Given the description of an element on the screen output the (x, y) to click on. 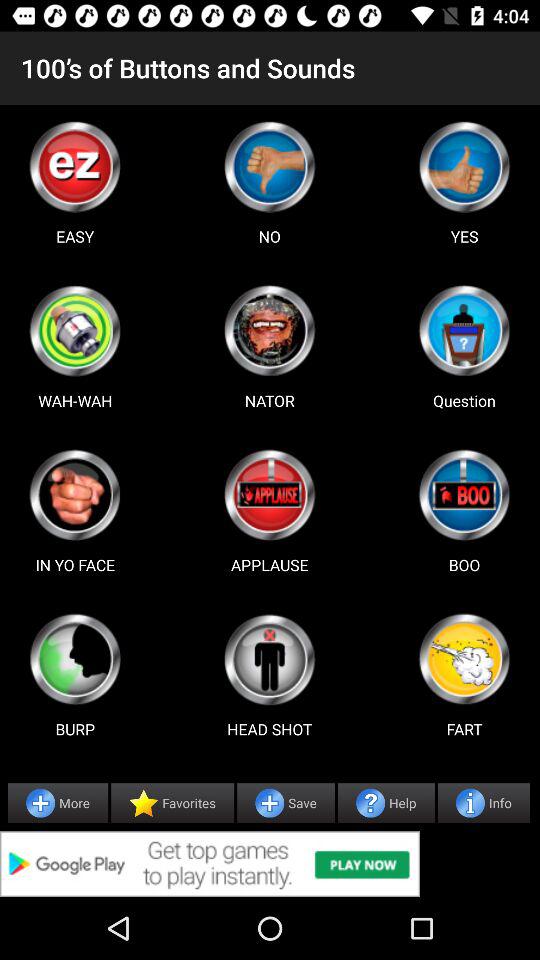
button to initiate a sound (75, 659)
